Given the description of an element on the screen output the (x, y) to click on. 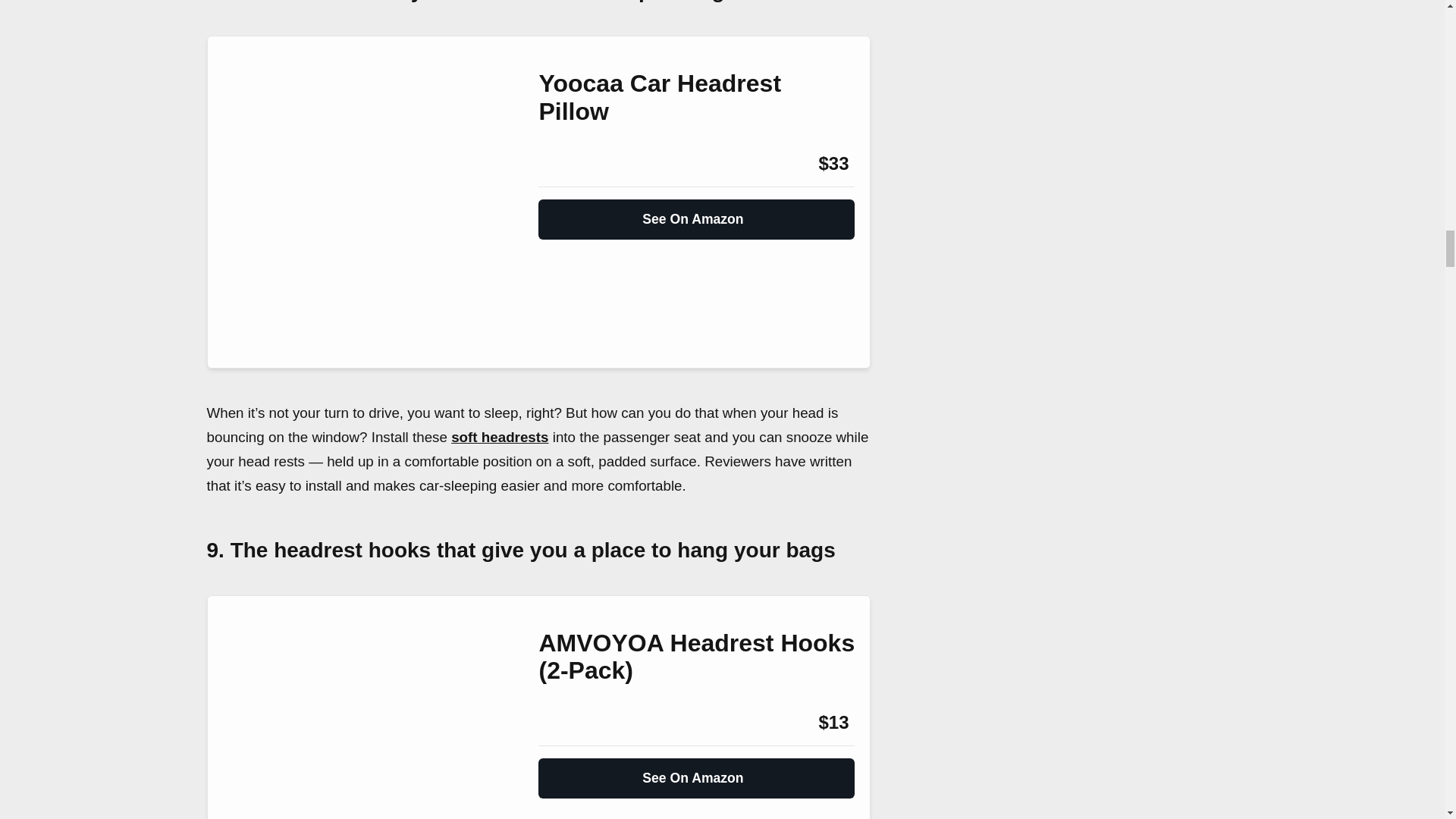
Amazon (579, 722)
soft headrests (499, 437)
See On Amazon (696, 212)
Amazon (579, 163)
